Given the description of an element on the screen output the (x, y) to click on. 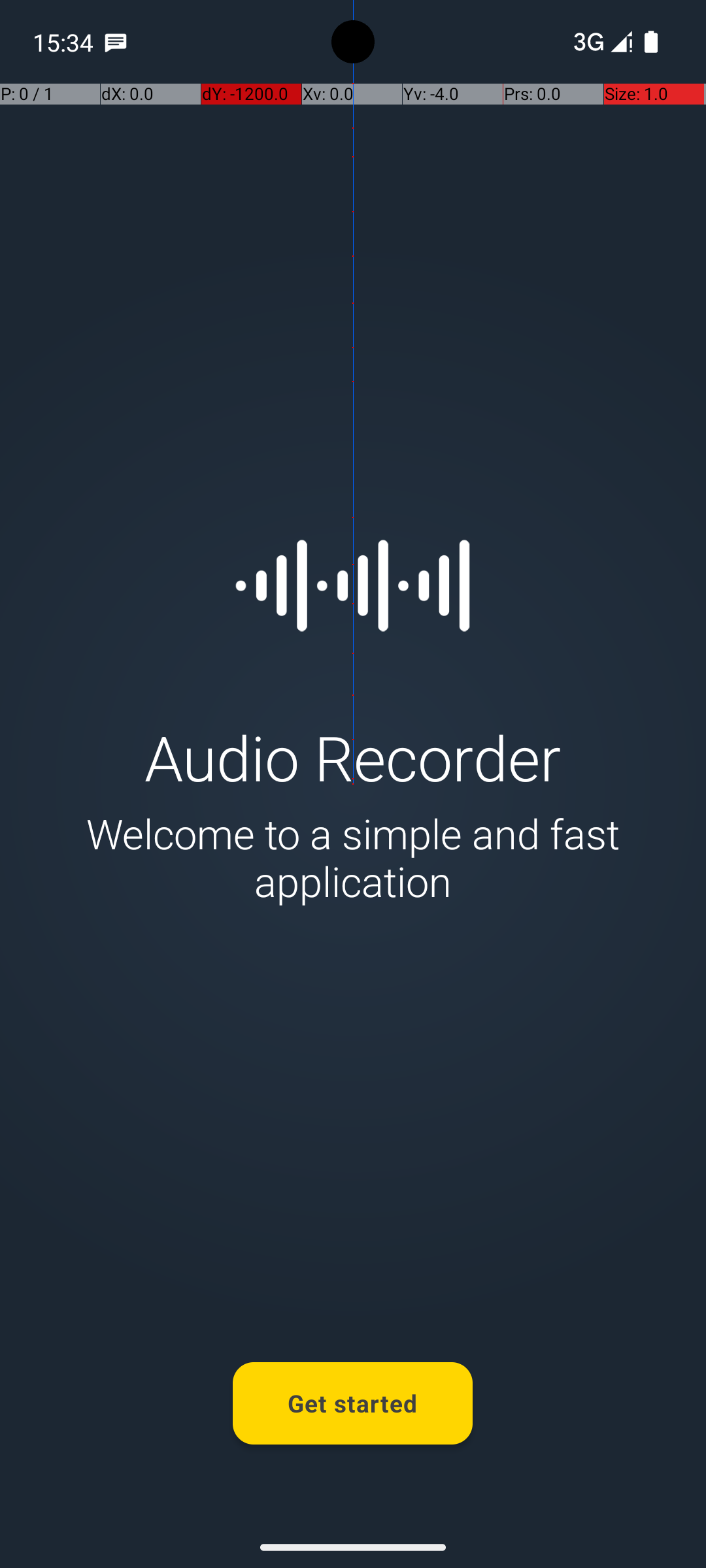
Get started Element type: android.widget.Button (352, 1403)
Audio Recorder Element type: android.widget.TextView (352, 756)
Welcome to a simple and fast application Element type: android.widget.TextView (352, 856)
SMS Messenger notification:  Element type: android.widget.ImageView (115, 41)
Phone signal full. Element type: android.widget.FrameLayout (600, 41)
